Given the description of an element on the screen output the (x, y) to click on. 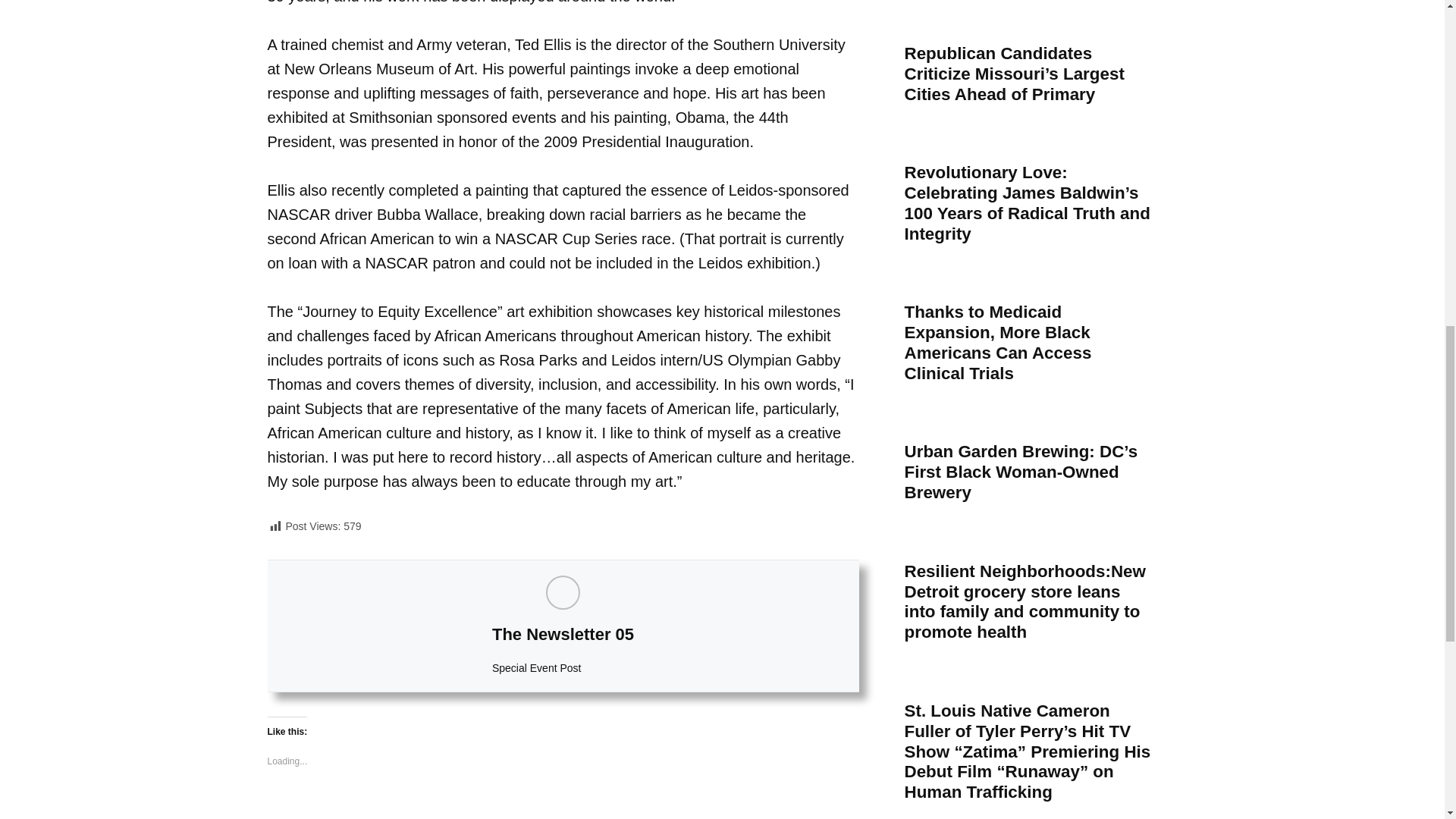
The Newsletter 05 (562, 633)
